Given the description of an element on the screen output the (x, y) to click on. 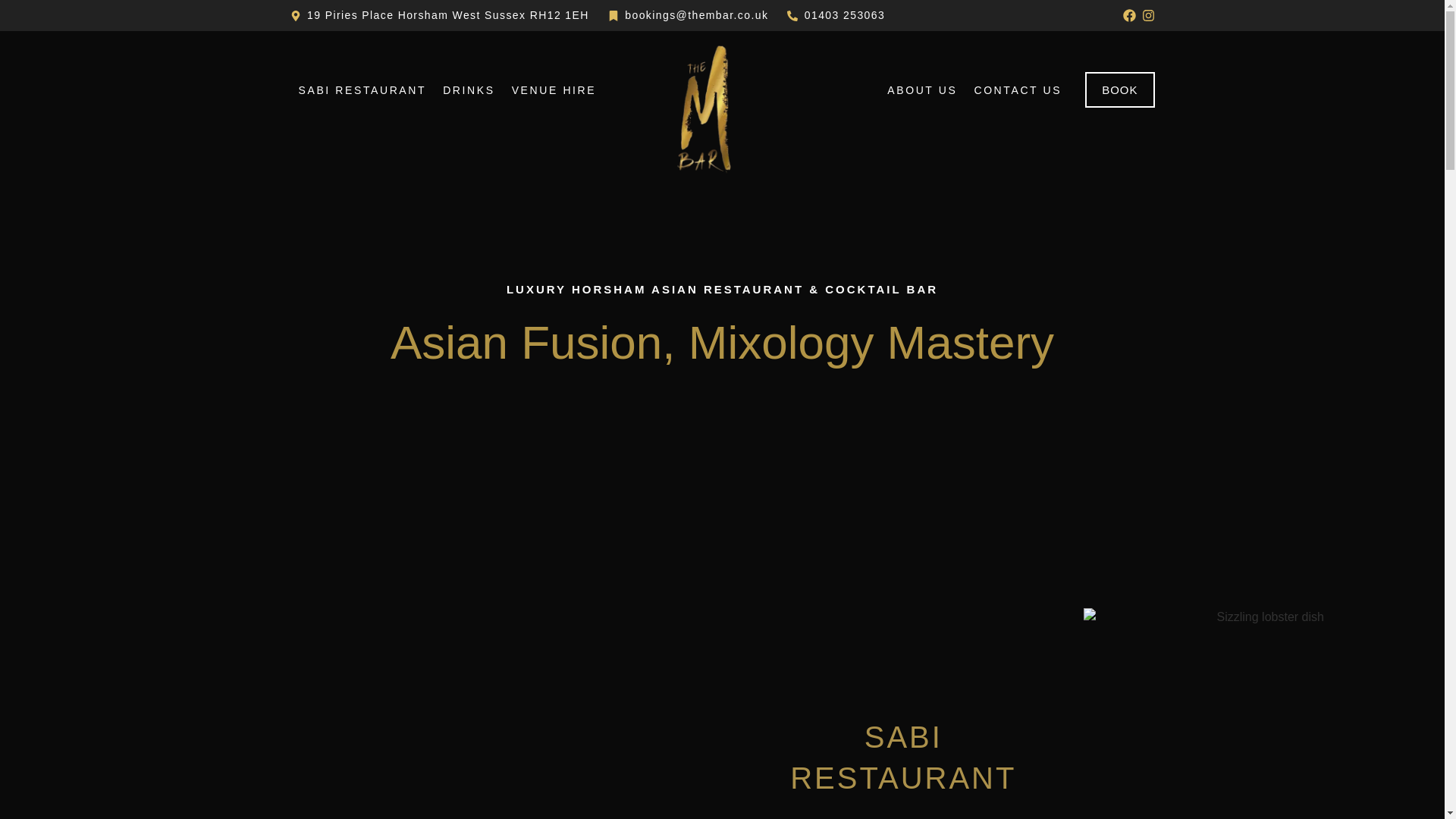
CONTACT US (1017, 89)
ABOUT US (922, 89)
VENUE HIRE (554, 89)
BOOK (1119, 89)
SABI RESTAURANT (361, 89)
01403 253063 (836, 15)
DRINKS (468, 89)
19 Piries Place Horsham West Sussex RH12 1EH (438, 15)
